Given the description of an element on the screen output the (x, y) to click on. 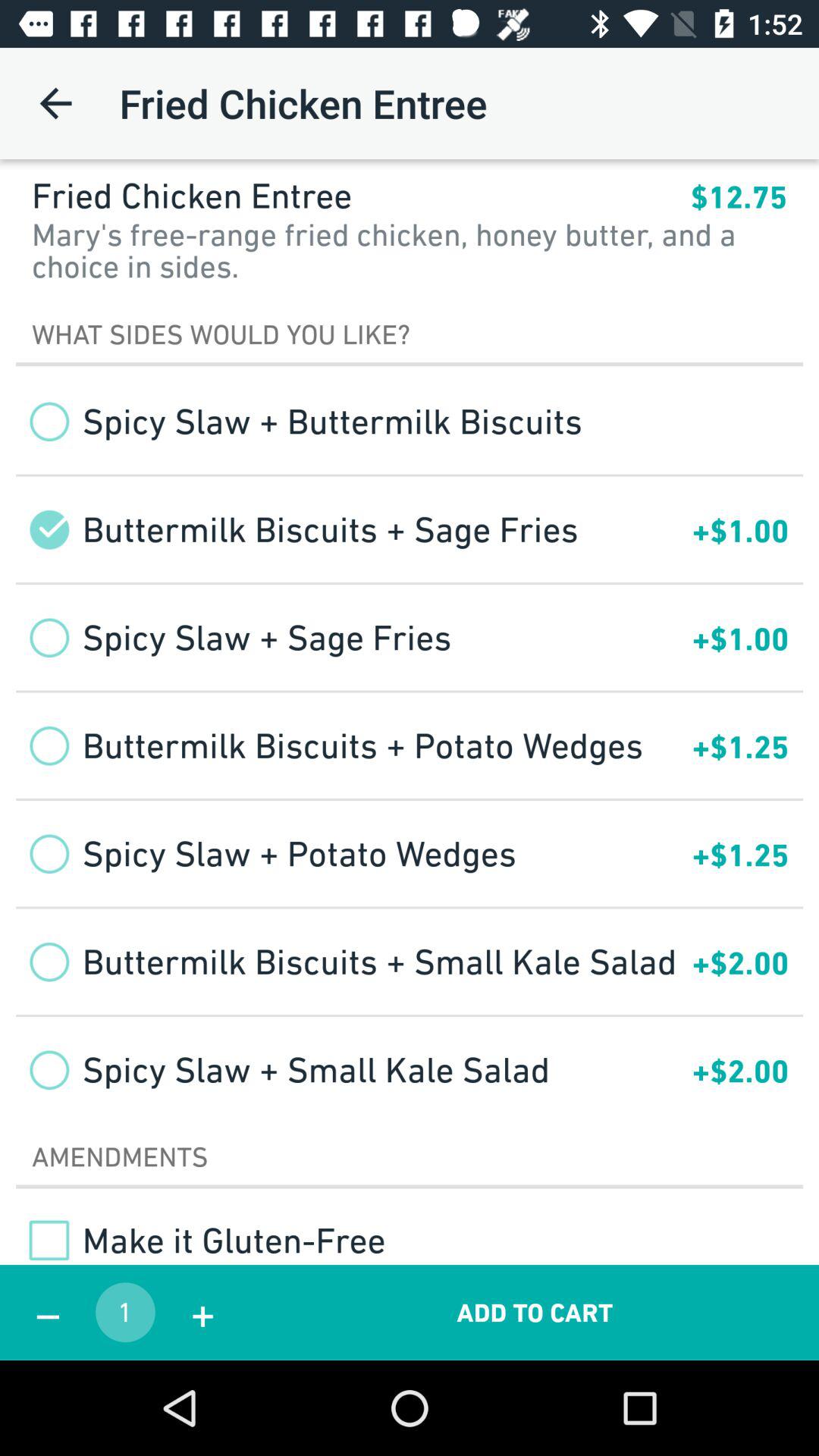
swipe to make it gluten icon (200, 1239)
